Given the description of an element on the screen output the (x, y) to click on. 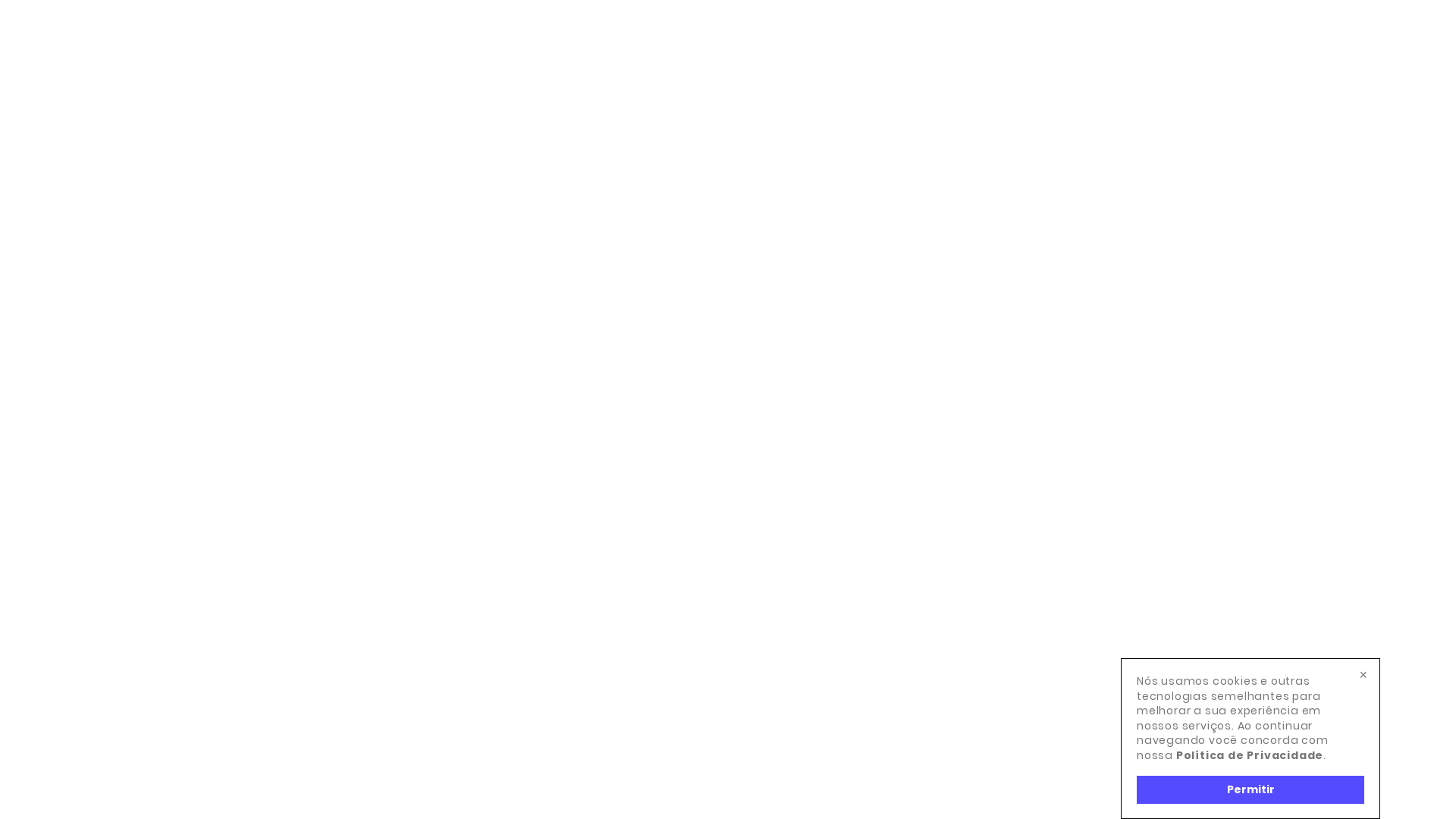
Permitir Element type: text (1250, 789)
